Given the description of an element on the screen output the (x, y) to click on. 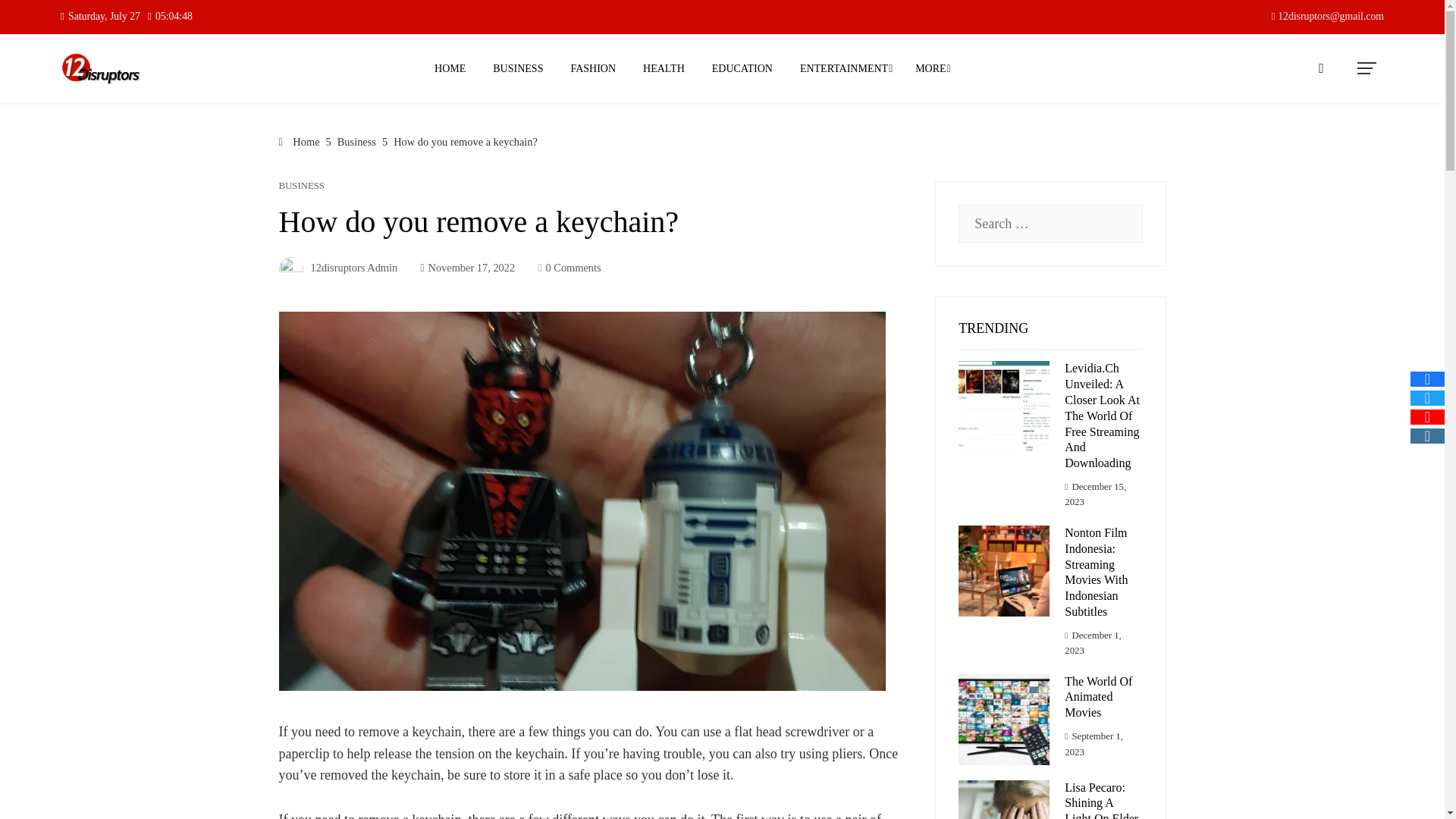
EDUCATION (742, 68)
HEALTH (663, 68)
BUSINESS (517, 68)
FASHION (593, 68)
ENTERTAINMENT (844, 68)
